Given the description of an element on the screen output the (x, y) to click on. 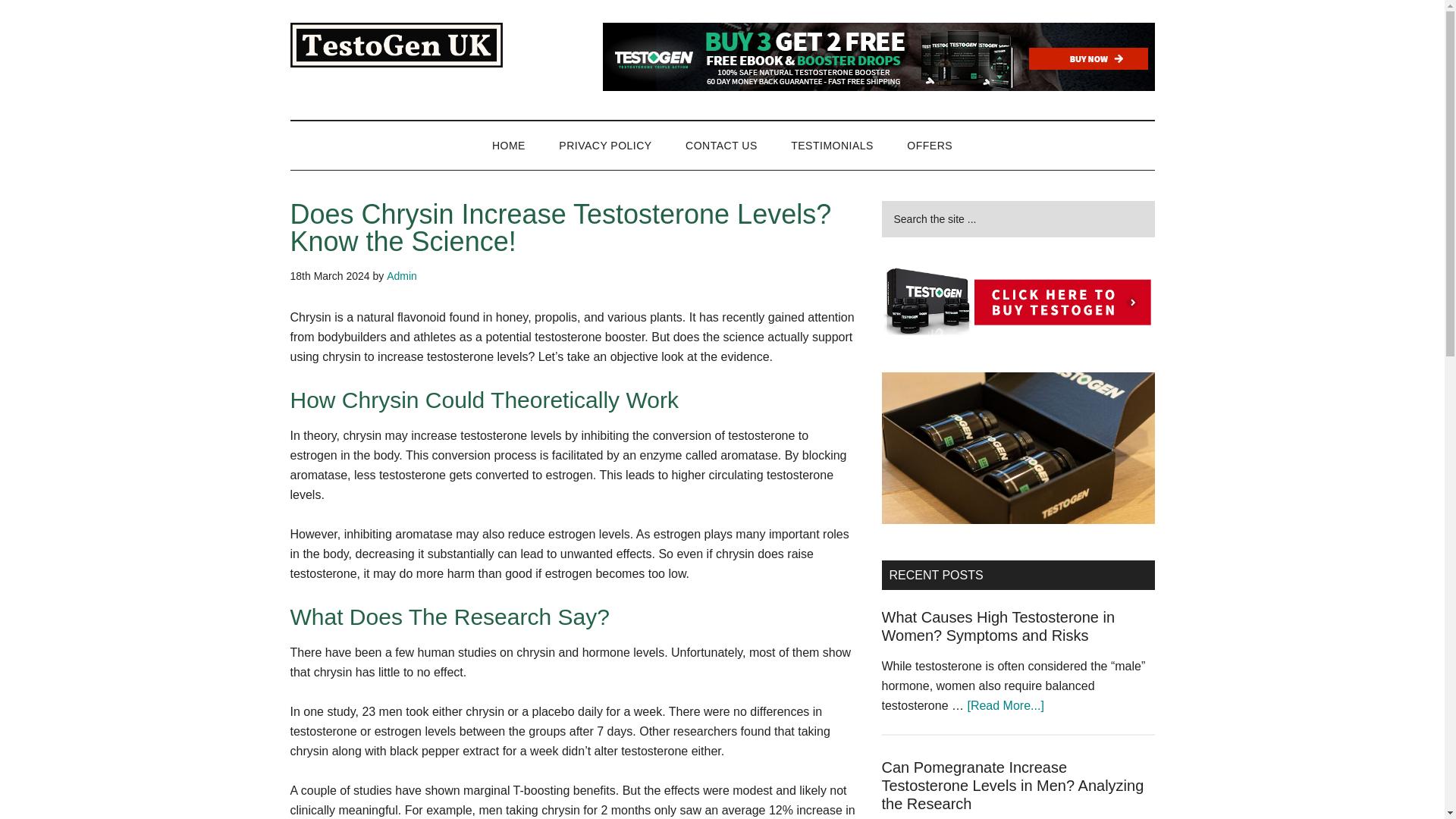
OFFERS (929, 145)
CONTACT US (721, 145)
HOME (508, 145)
Admin (401, 275)
What Causes High Testosterone in Women? Symptoms and Risks (997, 626)
PRIVACY POLICY (604, 145)
